Given the description of an element on the screen output the (x, y) to click on. 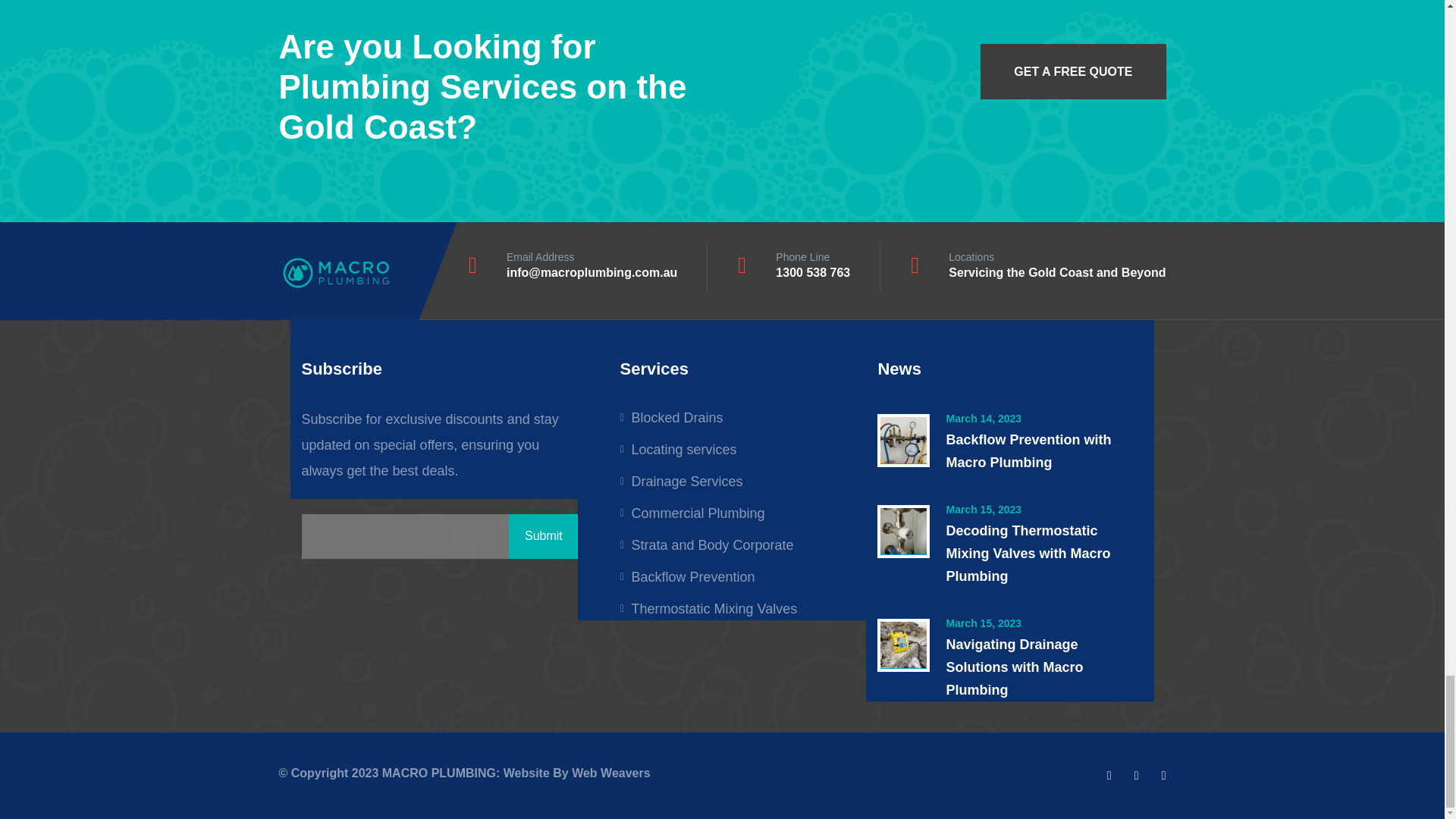
Submit (543, 536)
